Given the description of an element on the screen output the (x, y) to click on. 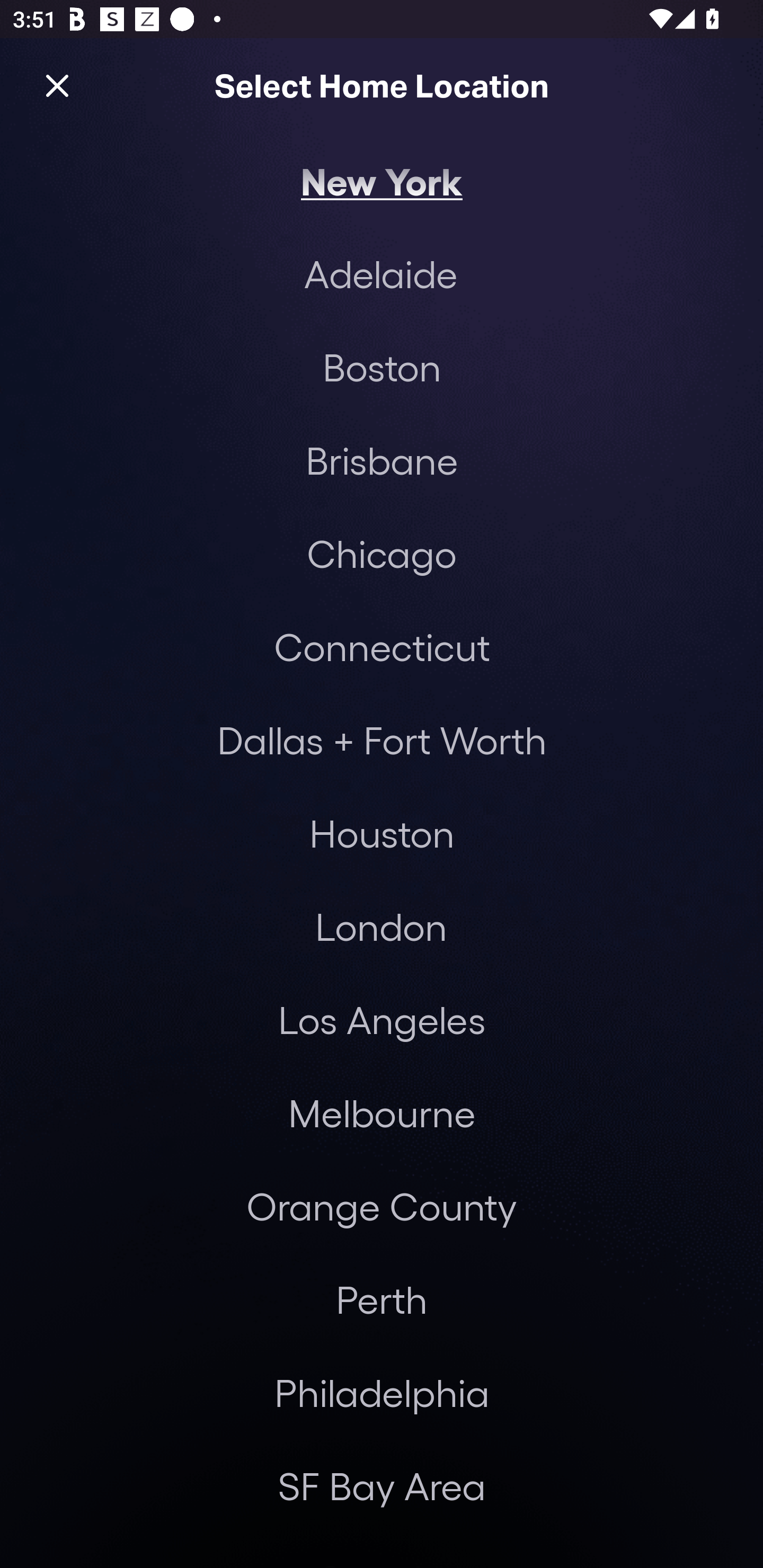
Close (57, 85)
New York (381, 180)
Adelaide (380, 273)
Boston (381, 366)
Brisbane (381, 459)
Chicago (381, 553)
Connecticut (381, 646)
Dallas + Fort Worth (381, 740)
Houston (381, 833)
London (380, 926)
Los Angeles (381, 1019)
Melbourne (381, 1113)
Orange County (381, 1206)
Perth (381, 1298)
Philadelphia (381, 1392)
SF Bay Area (381, 1485)
